Given the description of an element on the screen output the (x, y) to click on. 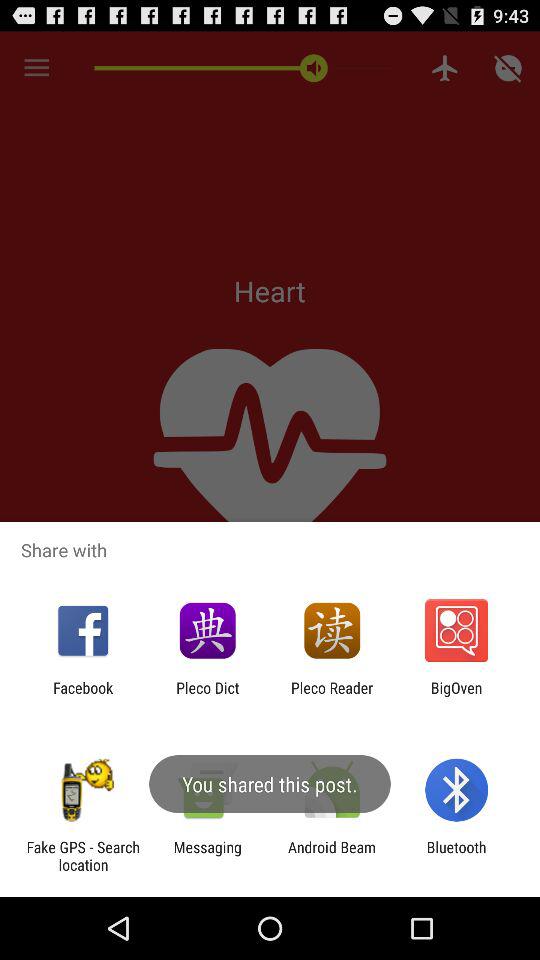
turn on the app next to pleco reader icon (456, 696)
